Given the description of an element on the screen output the (x, y) to click on. 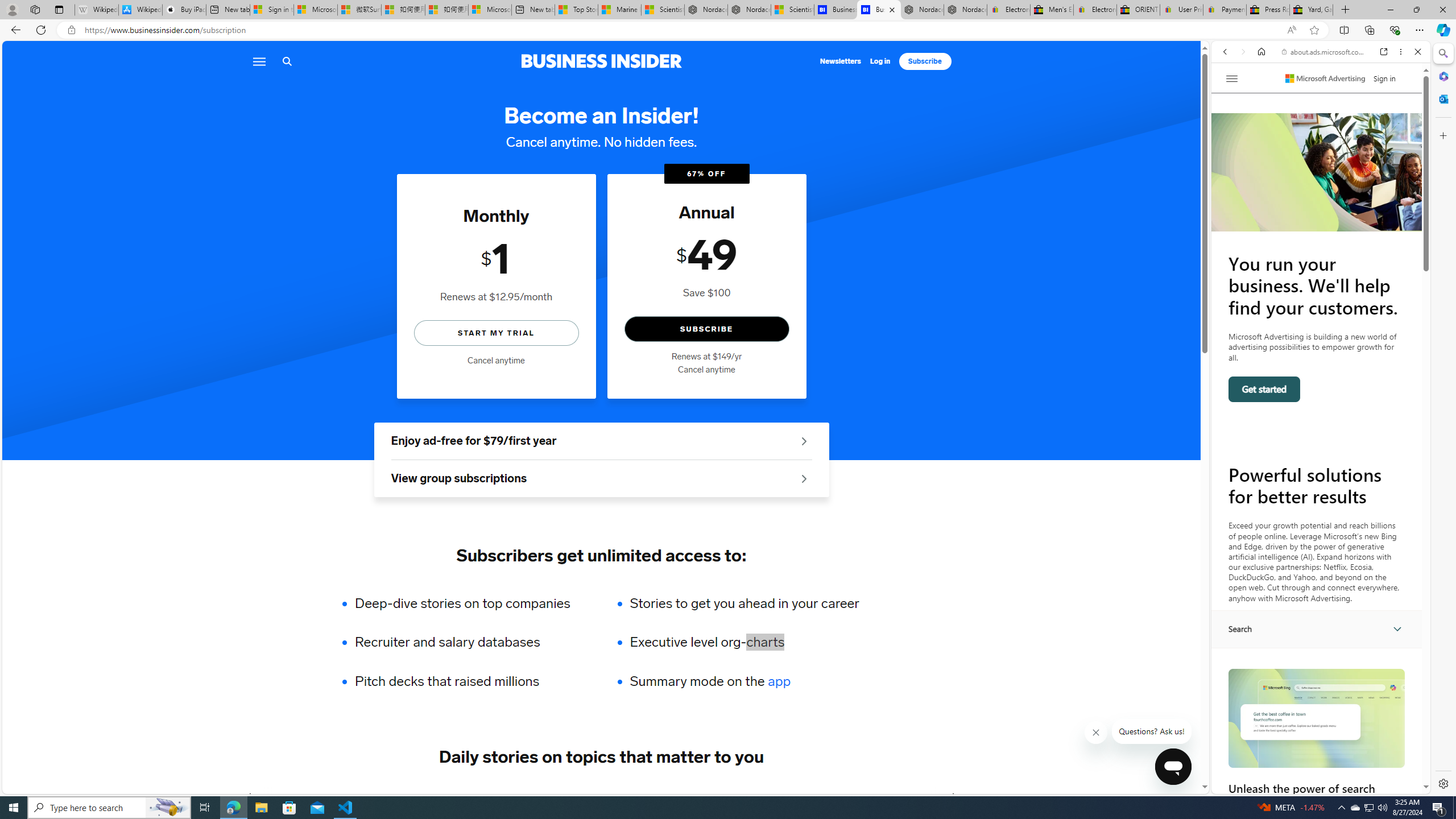
SUBSCRIBE (706, 329)
MEDIA (953, 796)
Enjoy ad-free for $79/first year (601, 441)
View group subscriptions See group offers (601, 478)
Log in (880, 61)
